Given the description of an element on the screen output the (x, y) to click on. 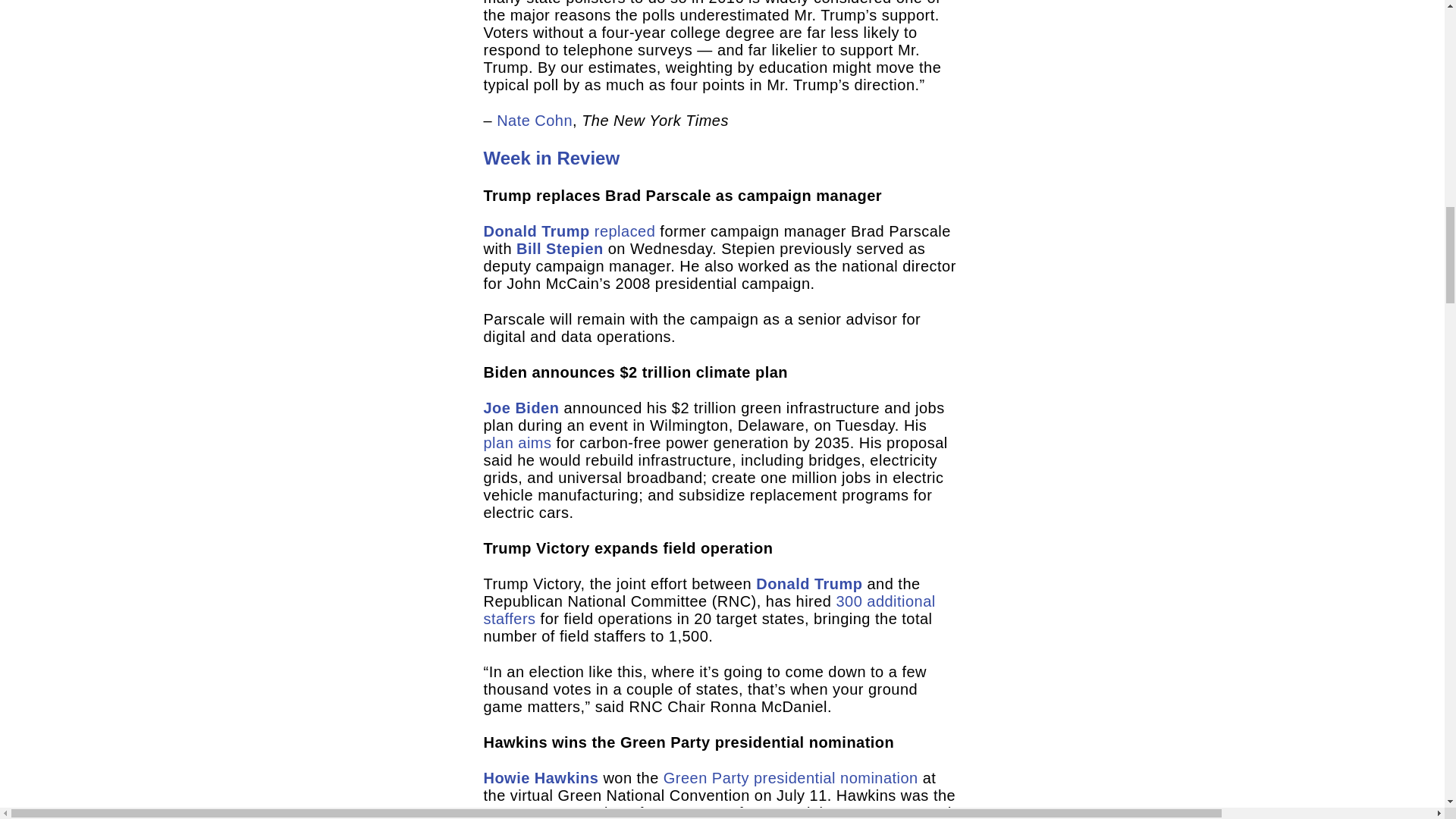
300 additional staffers (709, 609)
Donald Trump (808, 583)
plan (498, 442)
Bill Stepien (560, 248)
Joe Biden (521, 407)
replaced (625, 230)
Nate Cohn (534, 120)
Green Party presidential nomination (790, 777)
Donald Trump (536, 230)
aims (534, 442)
